Given the description of an element on the screen output the (x, y) to click on. 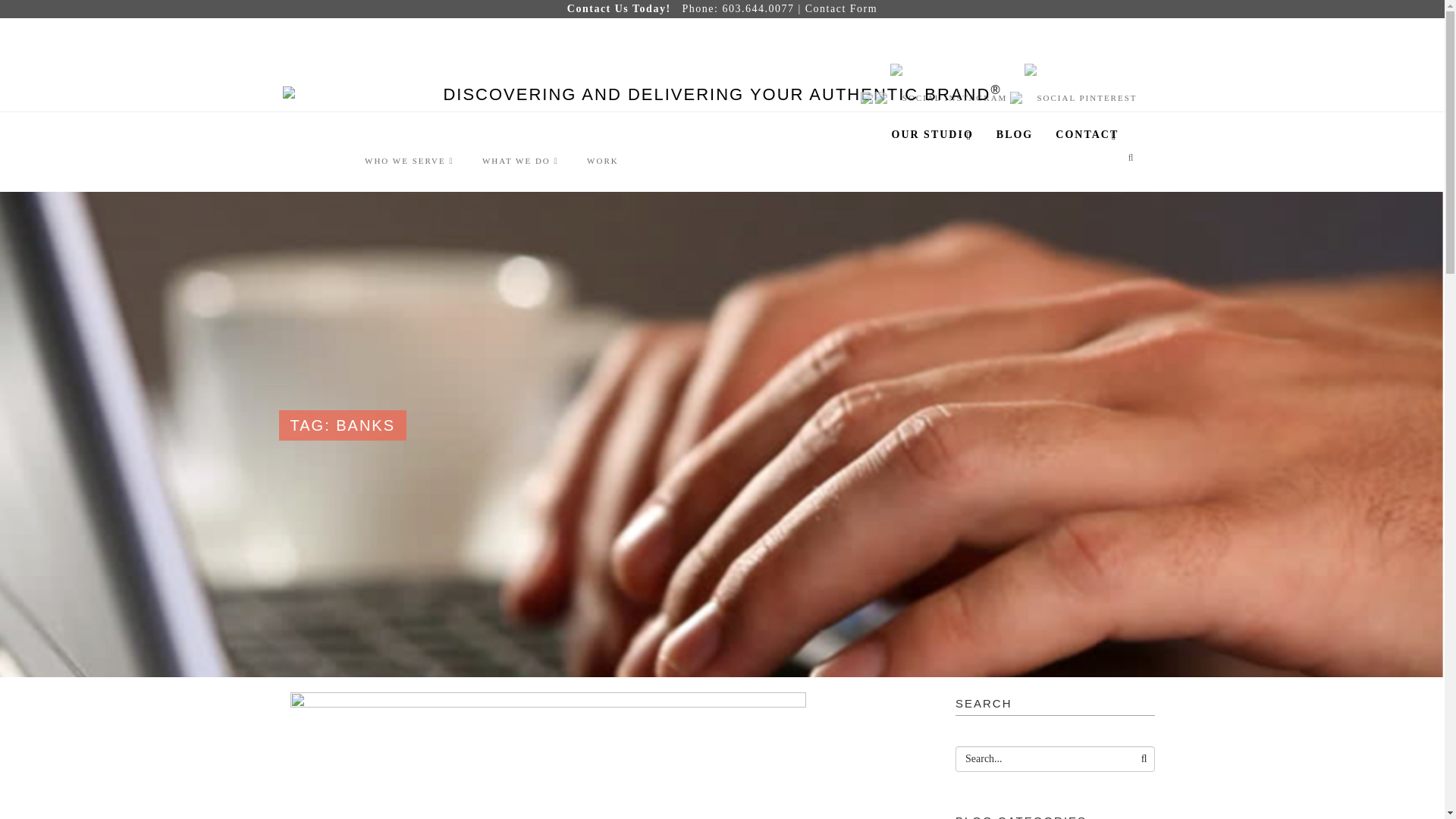
CONTACT (1086, 134)
603.644.0077 (757, 8)
Contact Form (841, 8)
OUR STUDIO (931, 134)
BLOG (1014, 134)
WHO WE SERVE (409, 160)
WHAT WE DO (520, 160)
